Given the description of an element on the screen output the (x, y) to click on. 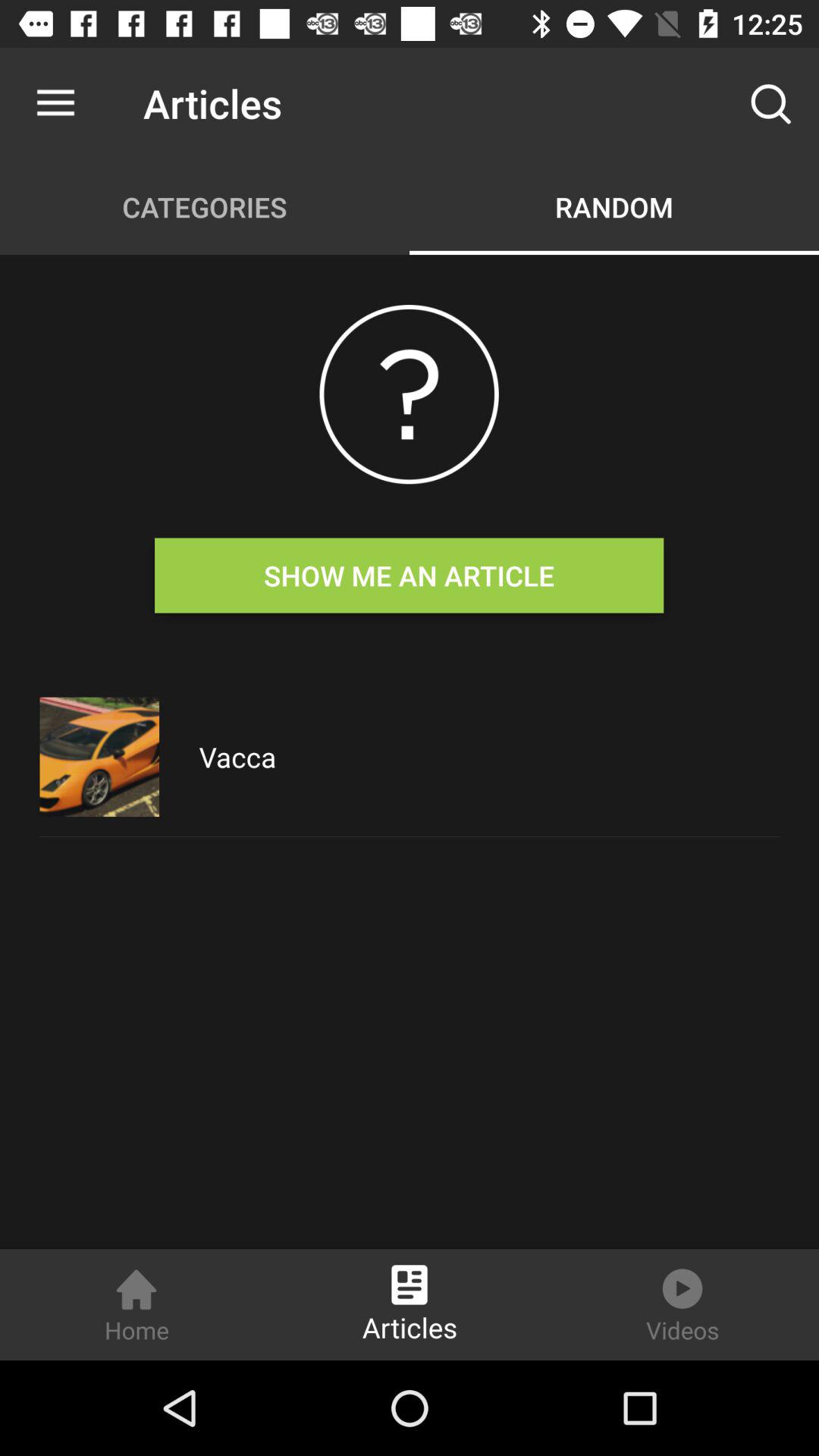
select the item to the right of the articles item (771, 103)
